Given the description of an element on the screen output the (x, y) to click on. 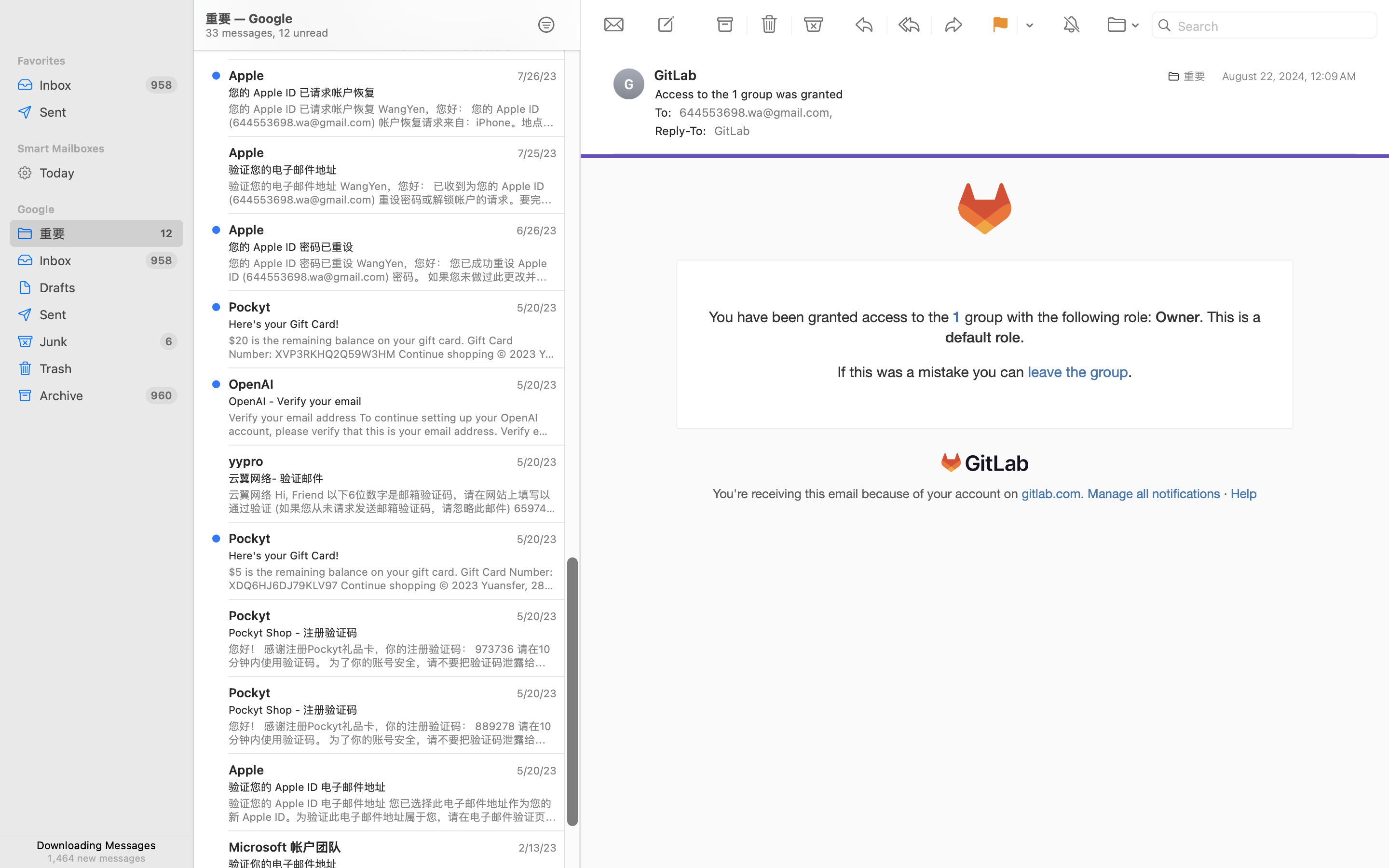
. Element type: AXStaticText (1084, 493)
644553698.wa@gmail.com Element type: AXStaticText (758, 112)
Manage all notifications Element type: AXStaticText (1154, 493)
Pockyt Element type: AXStaticText (249, 306)
1 Element type: AXStaticText (956, 316)
